Given the description of an element on the screen output the (x, y) to click on. 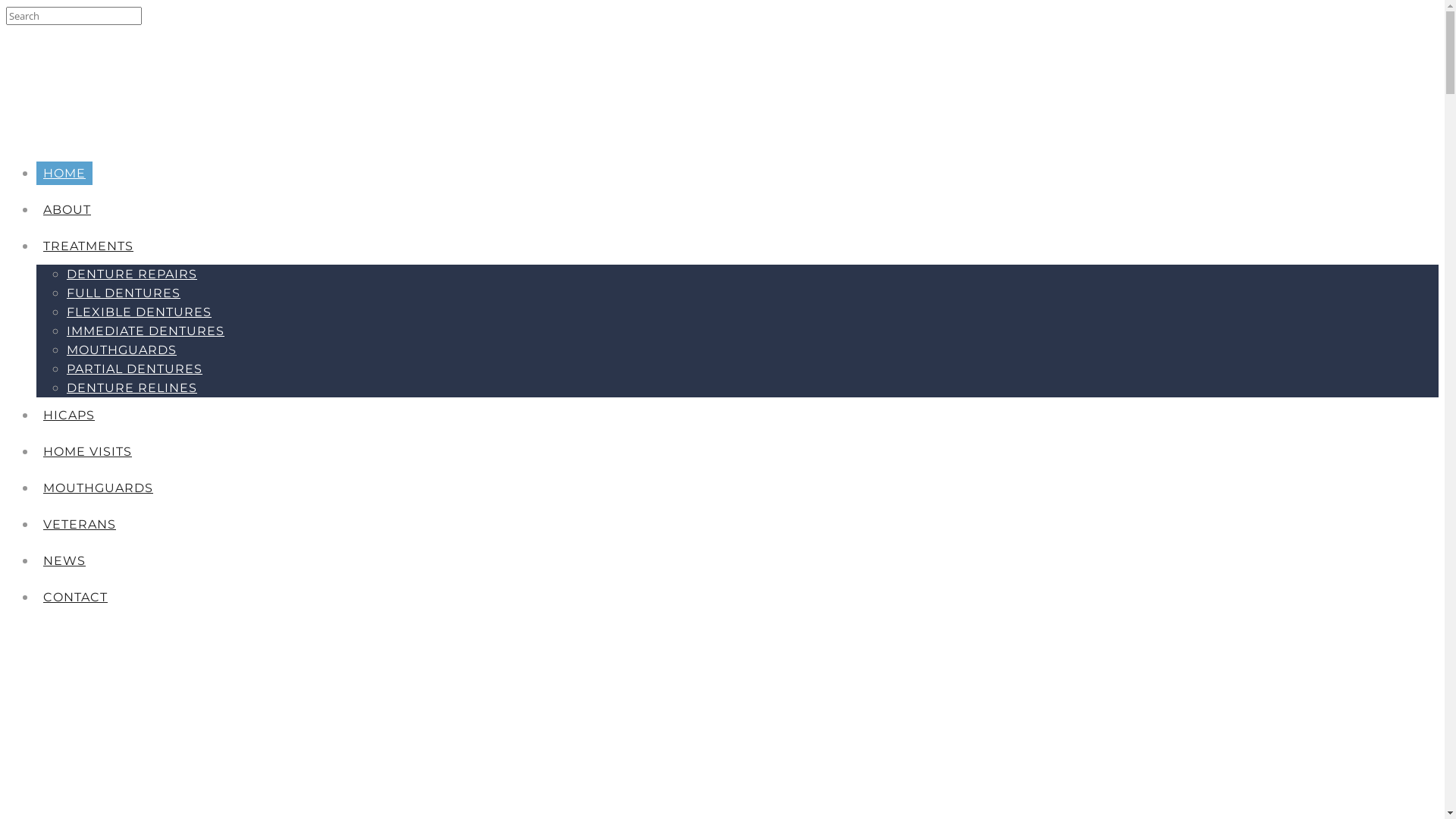
IMMEDIATE DENTURES Element type: text (145, 330)
TREATMENTS Element type: text (88, 245)
CONTACT Element type: text (75, 596)
MOUTHGUARDS Element type: text (121, 349)
HOME Element type: text (64, 173)
PARTIAL DENTURES Element type: text (134, 368)
ABOUT Element type: text (66, 209)
HICAPS Element type: text (68, 414)
FLEXIBLE DENTURES Element type: text (138, 311)
MOUTHGUARDS Element type: text (98, 487)
DENTURE RELINES Element type: text (131, 387)
VETERANS Element type: text (79, 524)
Ocean Grove Denture Services Element type: hover (119, 133)
Ocean Grove Denture Services Element type: hover (119, 795)
FULL DENTURES Element type: text (123, 292)
DENTURE REPAIRS Element type: text (131, 273)
Ocean Grove Denture Services Element type: hover (119, 677)
Ocean Grove Denture Services Element type: hover (119, 766)
NEWS Element type: text (64, 560)
HOME VISITS Element type: text (87, 451)
